Given the description of an element on the screen output the (x, y) to click on. 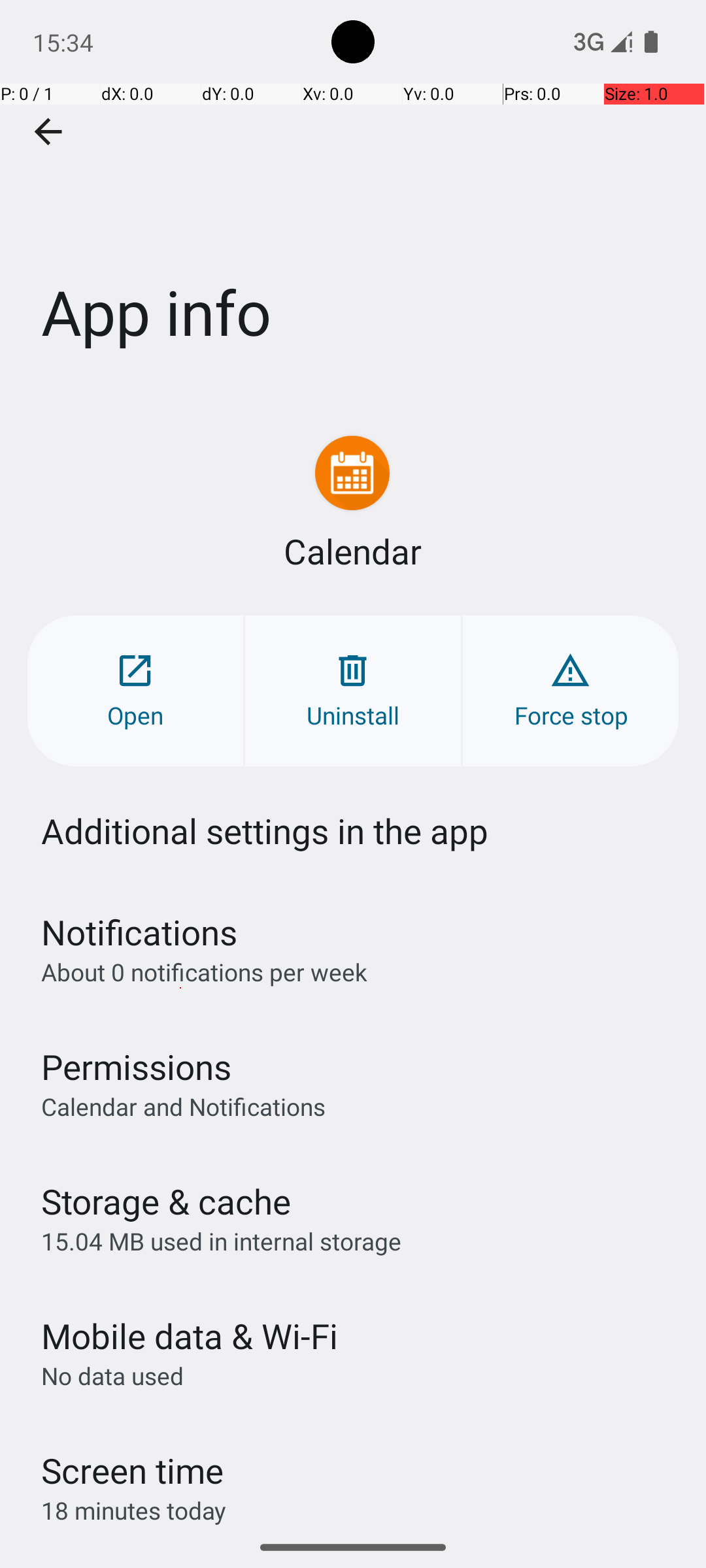
App info Element type: android.widget.FrameLayout (353, 195)
Open Element type: android.widget.Button (135, 690)
Uninstall Element type: android.widget.Button (352, 690)
Force stop Element type: android.widget.Button (570, 690)
Additional settings in the app Element type: android.widget.TextView (264, 830)
Notifications Element type: android.widget.TextView (139, 931)
About 0 notifications per week Element type: android.widget.TextView (204, 971)
Permissions Element type: android.widget.TextView (136, 1066)
Calendar and Notifications Element type: android.widget.TextView (183, 1106)
Storage & cache Element type: android.widget.TextView (166, 1200)
15.04 MB used in internal storage Element type: android.widget.TextView (221, 1240)
Mobile data & Wi‑Fi Element type: android.widget.TextView (189, 1335)
No data used Element type: android.widget.TextView (112, 1375)
Screen time Element type: android.widget.TextView (132, 1470)
18 minutes today Element type: android.widget.TextView (133, 1509)
